Given the description of an element on the screen output the (x, y) to click on. 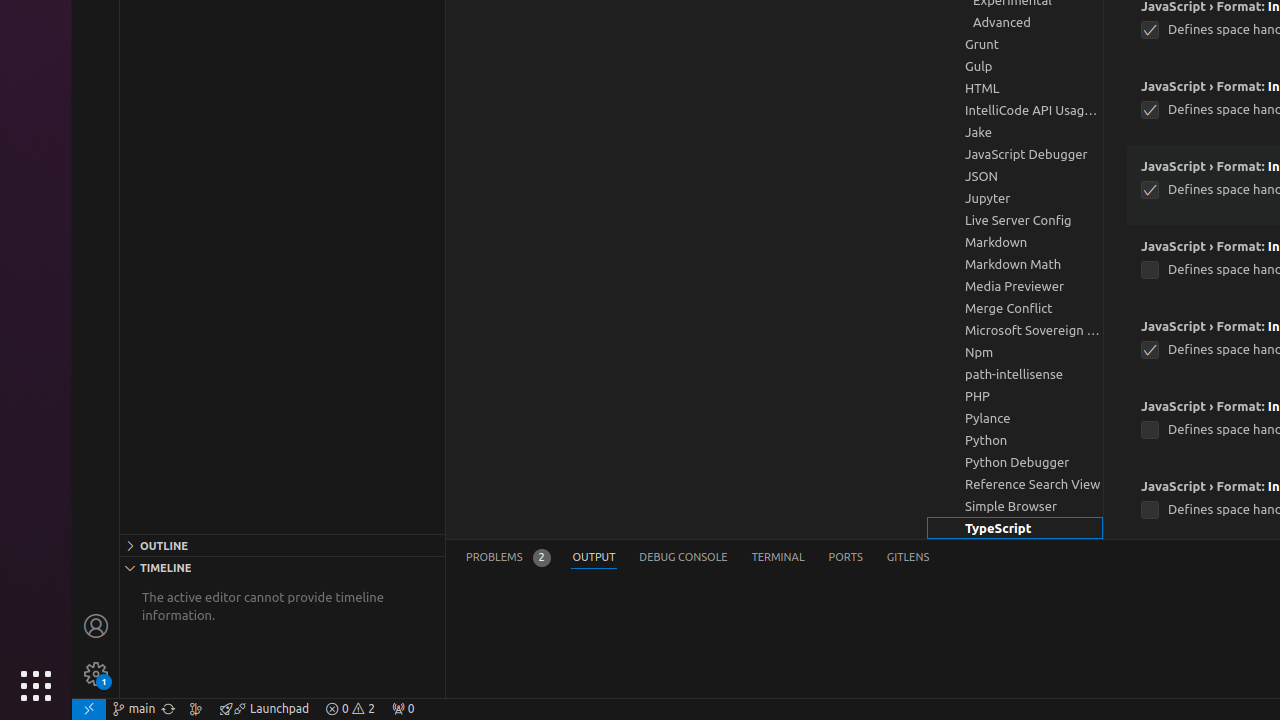
No Ports Forwarded Element type: push-button (403, 709)
OSWorld (Git) - Synchronize Changes Element type: push-button (168, 709)
More Actions... (Shift+F9) Element type: push-button (1116, 484)
javascript.format.insertSpaceAfterOpeningAndBeforeClosingEmptyBraces Element type: check-box (1150, 190)
Simple Browser, group Element type: tree-item (1015, 506)
